Given the description of an element on the screen output the (x, y) to click on. 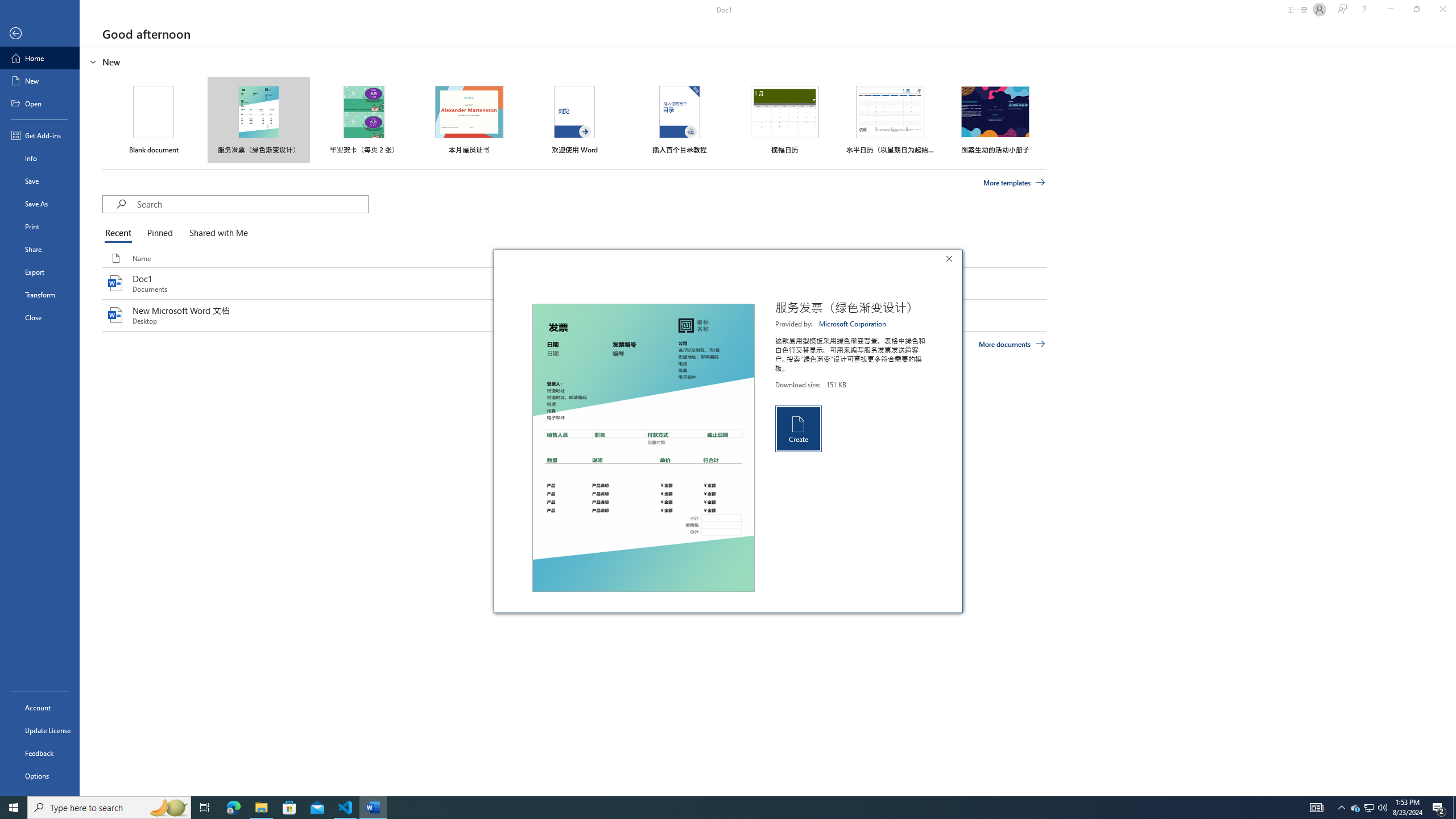
Save (40, 180)
Create (797, 428)
Blank document (153, 119)
Info (40, 157)
Preview (643, 447)
Open (40, 102)
Recent (119, 233)
Q2790: 100% (1382, 807)
Action Center, 2 new notifications (1439, 807)
User Promoted Notification Area (1368, 807)
Word - 1 running window (373, 807)
